Given the description of an element on the screen output the (x, y) to click on. 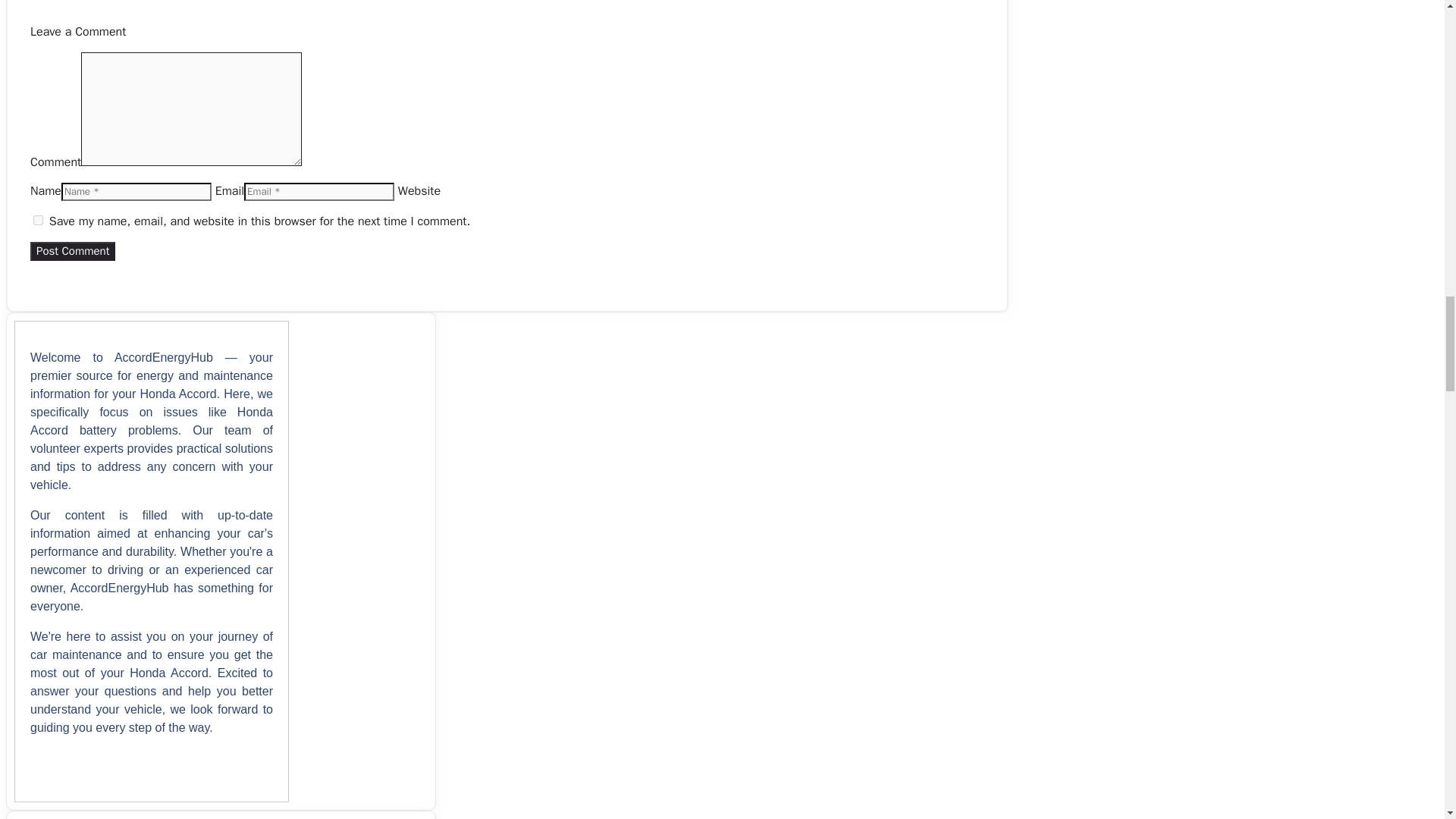
Post Comment (72, 251)
yes (38, 220)
Post Comment (72, 251)
